Given the description of an element on the screen output the (x, y) to click on. 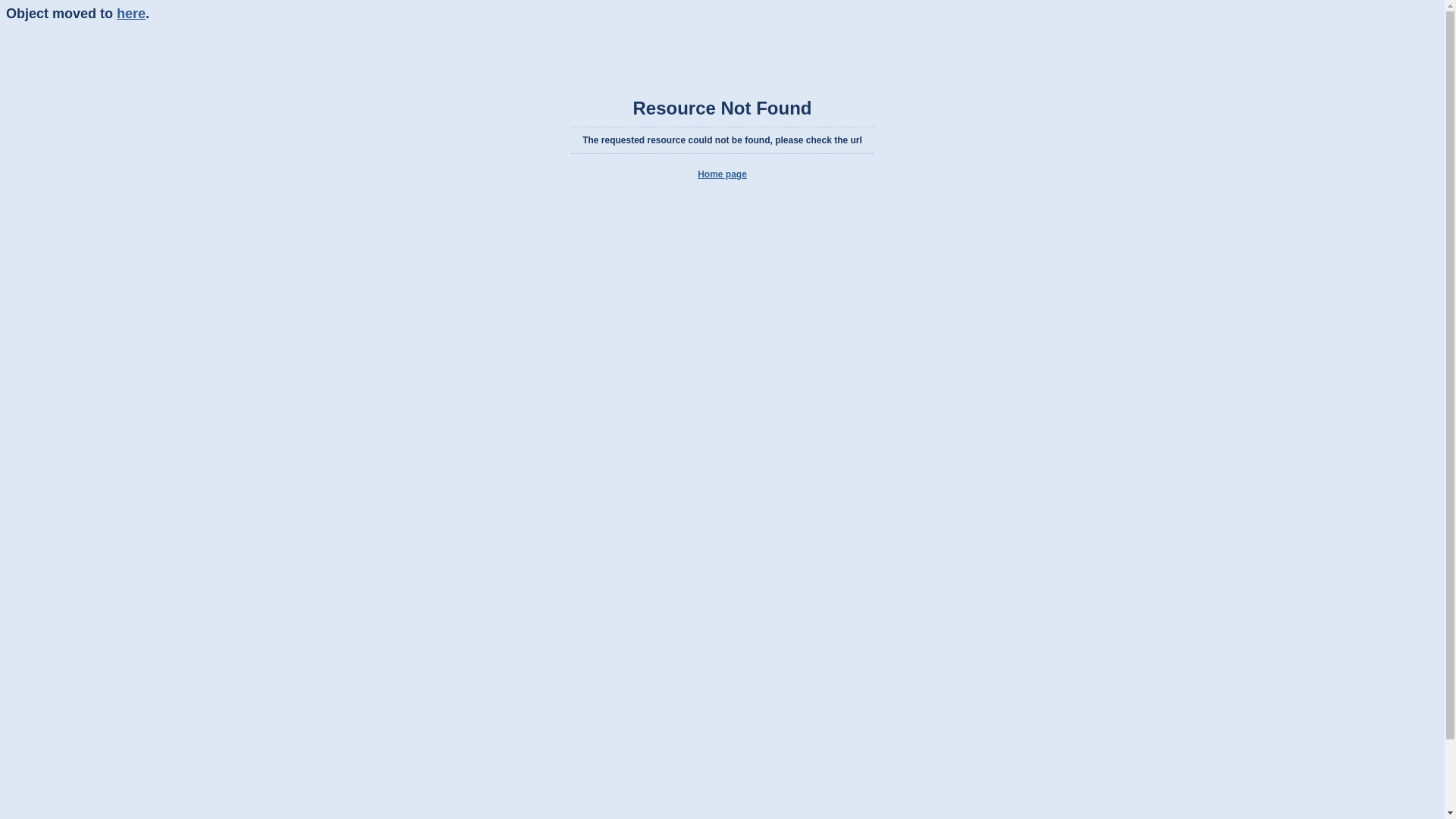
Home page Element type: text (721, 174)
here Element type: text (130, 13)
